Given the description of an element on the screen output the (x, y) to click on. 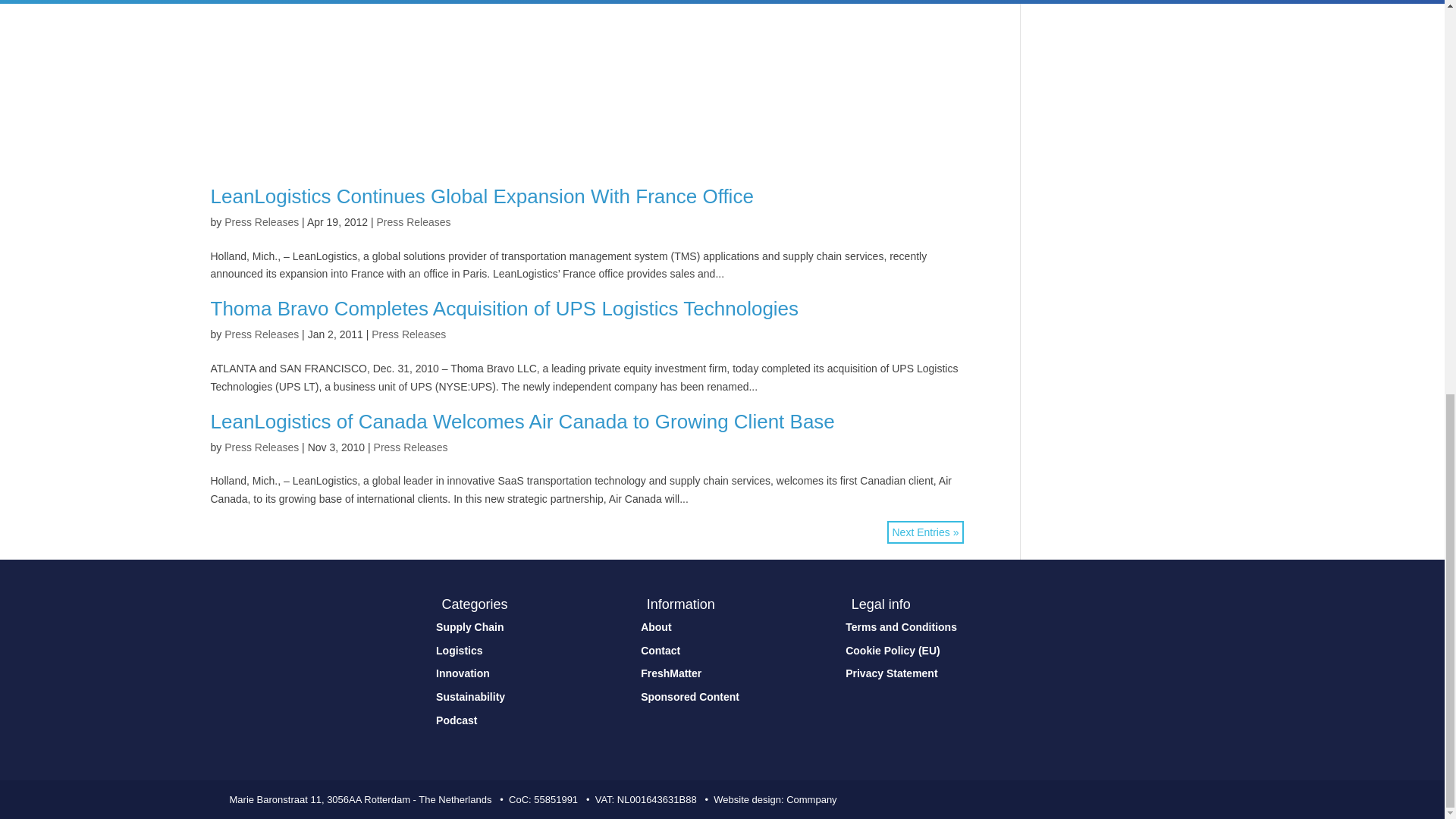
Posts by Press Releases (261, 334)
Posts by Press Releases (261, 447)
Posts by Press Releases (261, 222)
